Given the description of an element on the screen output the (x, y) to click on. 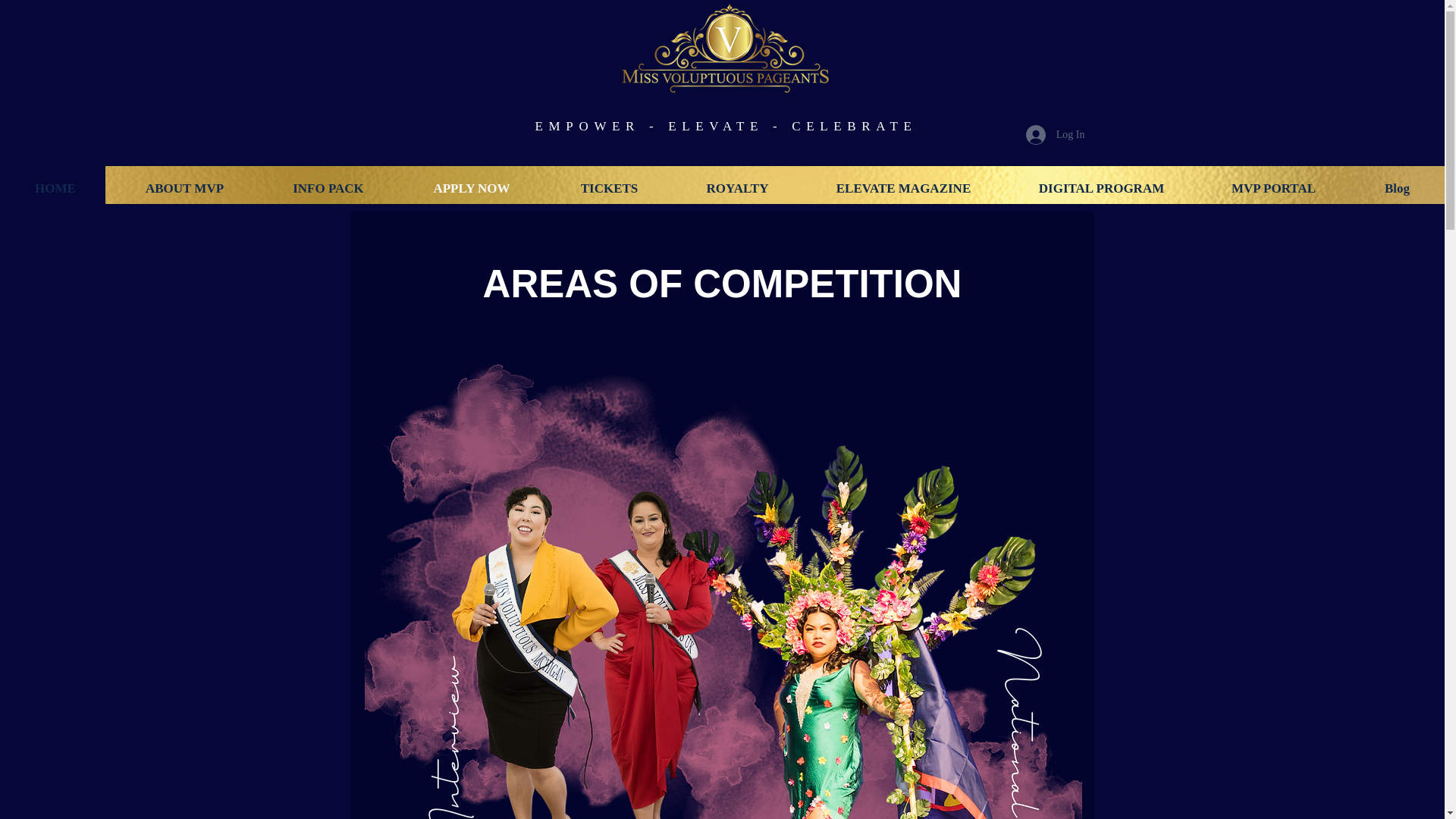
ROYALTY (737, 188)
DIGITAL PROGRAM (1101, 188)
HOME (55, 188)
AREAS OF COMPETITION (722, 283)
ABOUT MVP (184, 188)
TICKETS (608, 188)
APPLY NOW (470, 188)
INFO PACK (328, 188)
Log In (1055, 133)
MVP PORTAL (1272, 188)
